Given the description of an element on the screen output the (x, y) to click on. 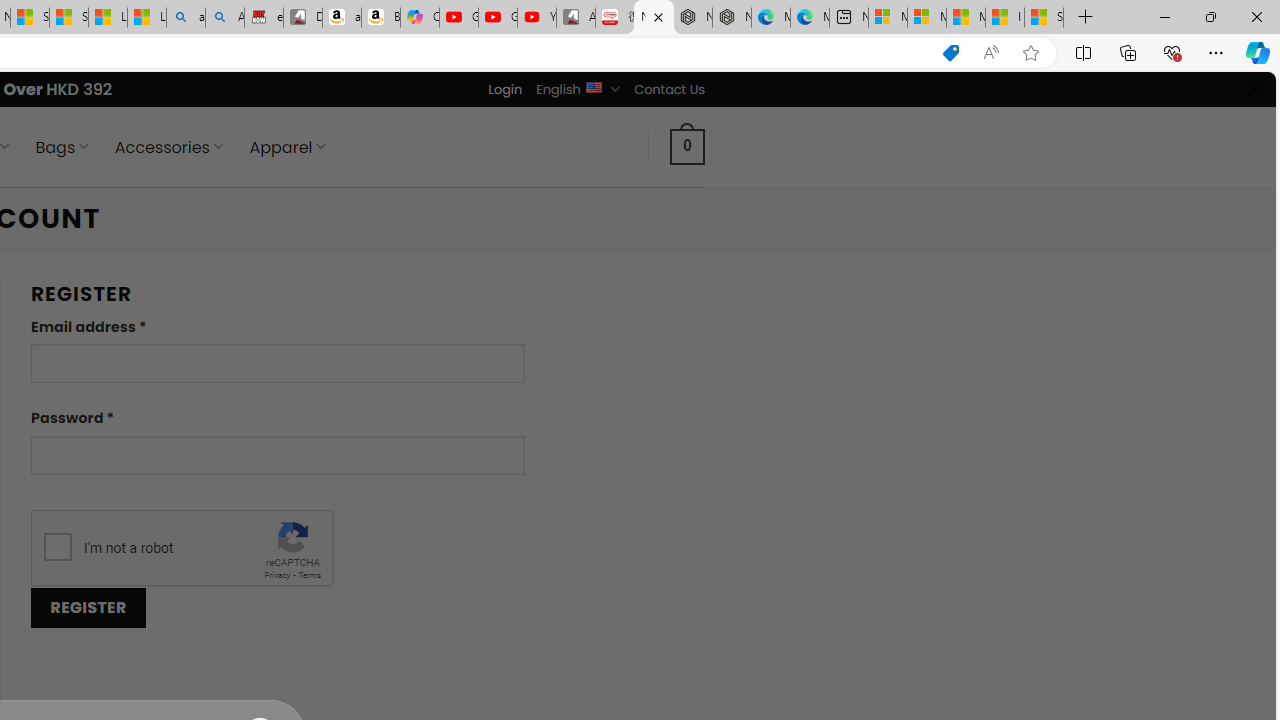
All Cubot phones (575, 17)
REGISTER (88, 607)
Contact Us (669, 89)
Privacy (276, 575)
I'm not a robot (57, 546)
Close (Esc) (1253, 93)
